Given the description of an element on the screen output the (x, y) to click on. 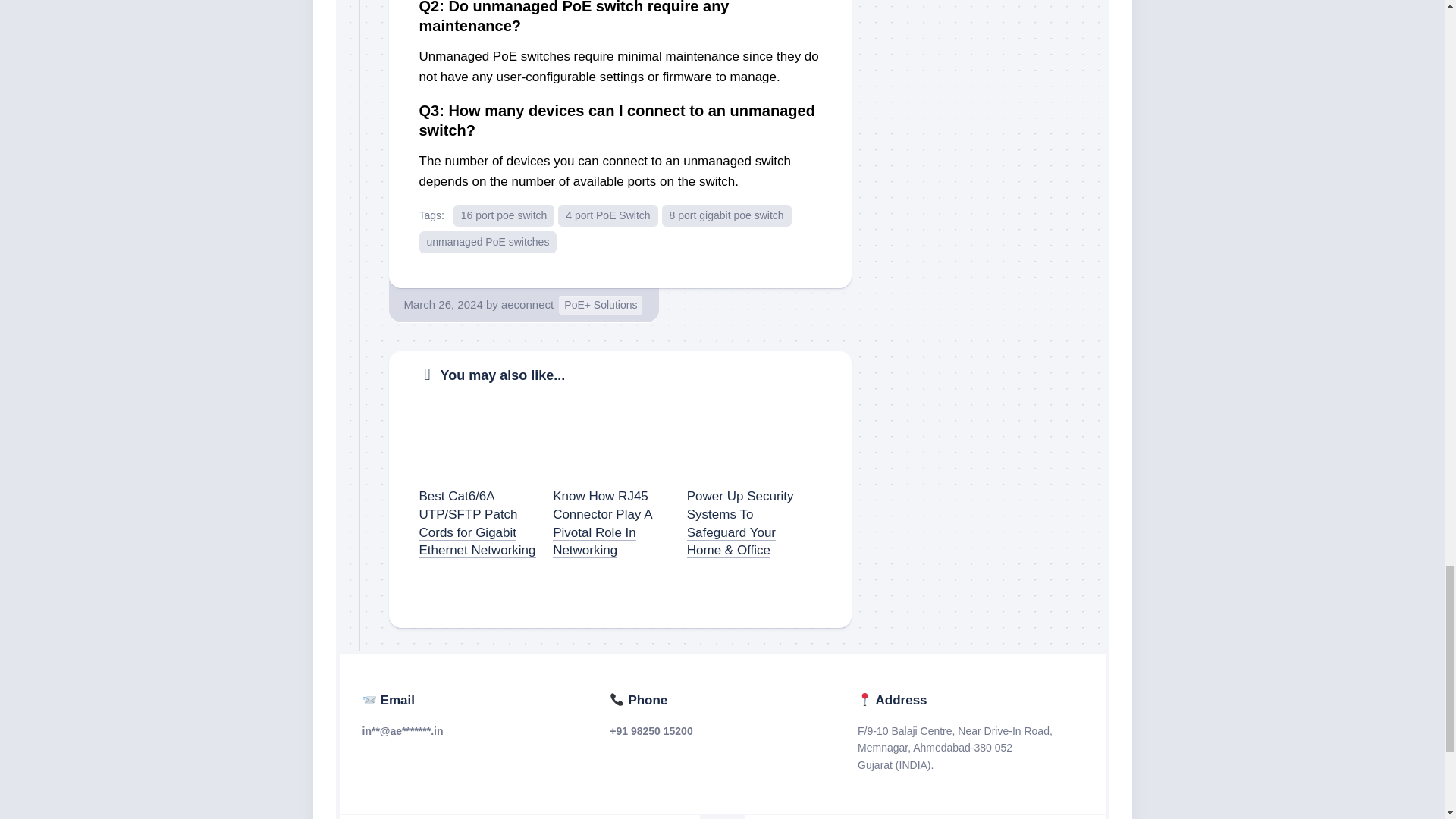
Posts by aeconnect (526, 304)
